Given the description of an element on the screen output the (x, y) to click on. 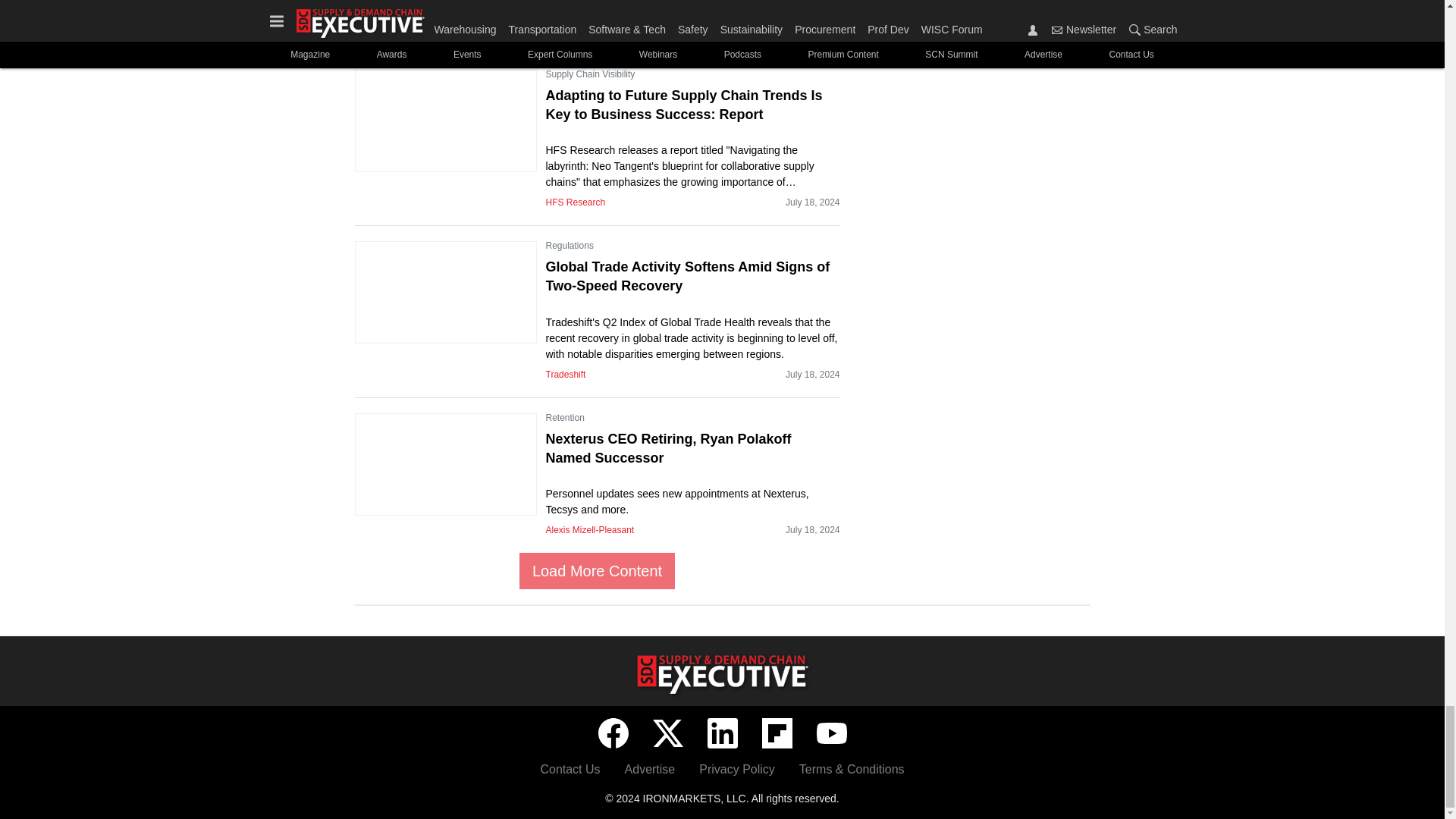
Flipboard icon (776, 733)
YouTube icon (830, 733)
Facebook icon (611, 733)
LinkedIn icon (721, 733)
Twitter X icon (667, 733)
